Given the description of an element on the screen output the (x, y) to click on. 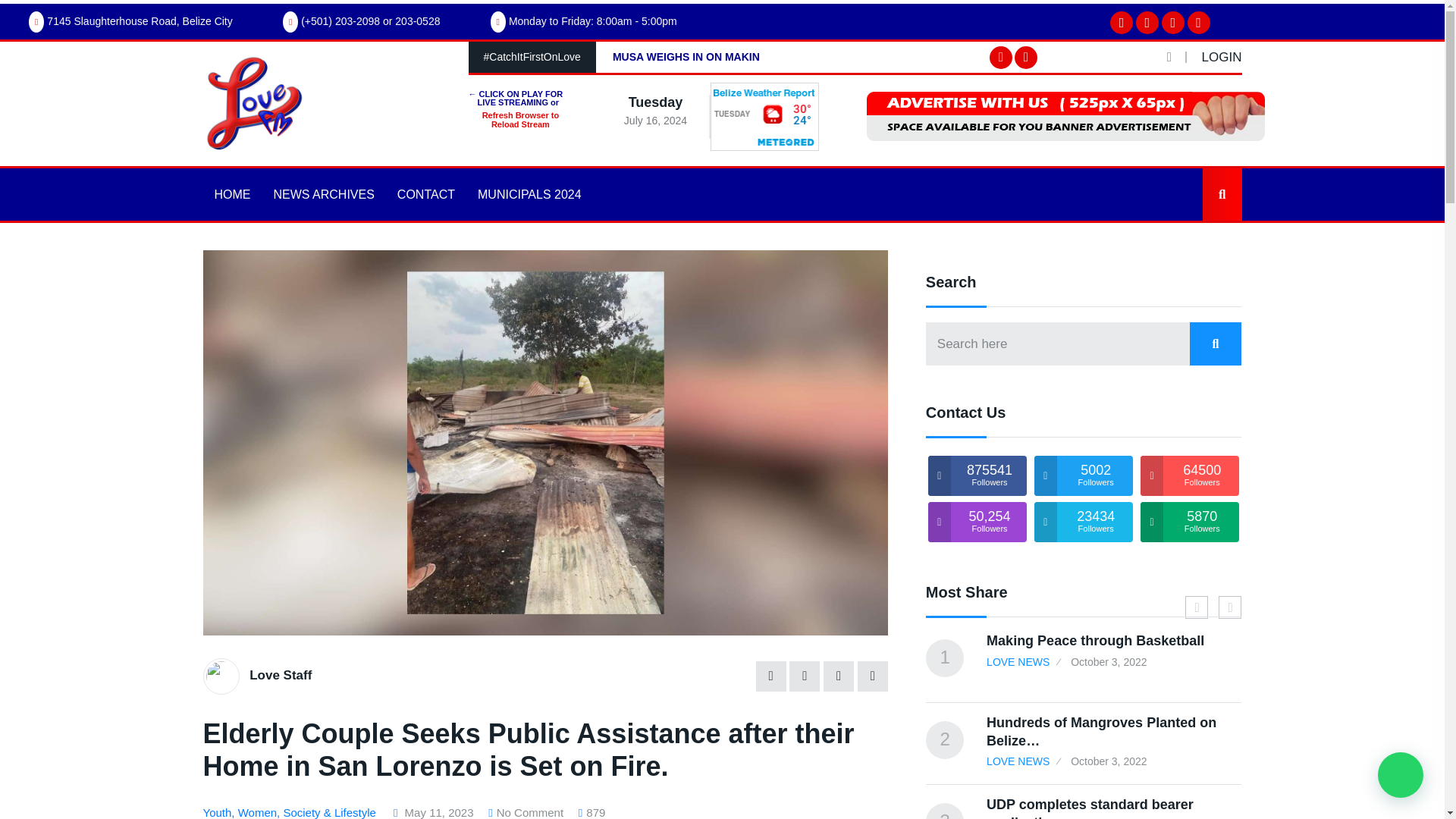
CONTACT (425, 194)
NEWS ARCHIVES (323, 194)
HOME (232, 194)
LOGIN (1221, 56)
MUNICIPALS 2024 (528, 194)
MUSA WEIGHS IN ON MAKIN (686, 56)
